Given the description of an element on the screen output the (x, y) to click on. 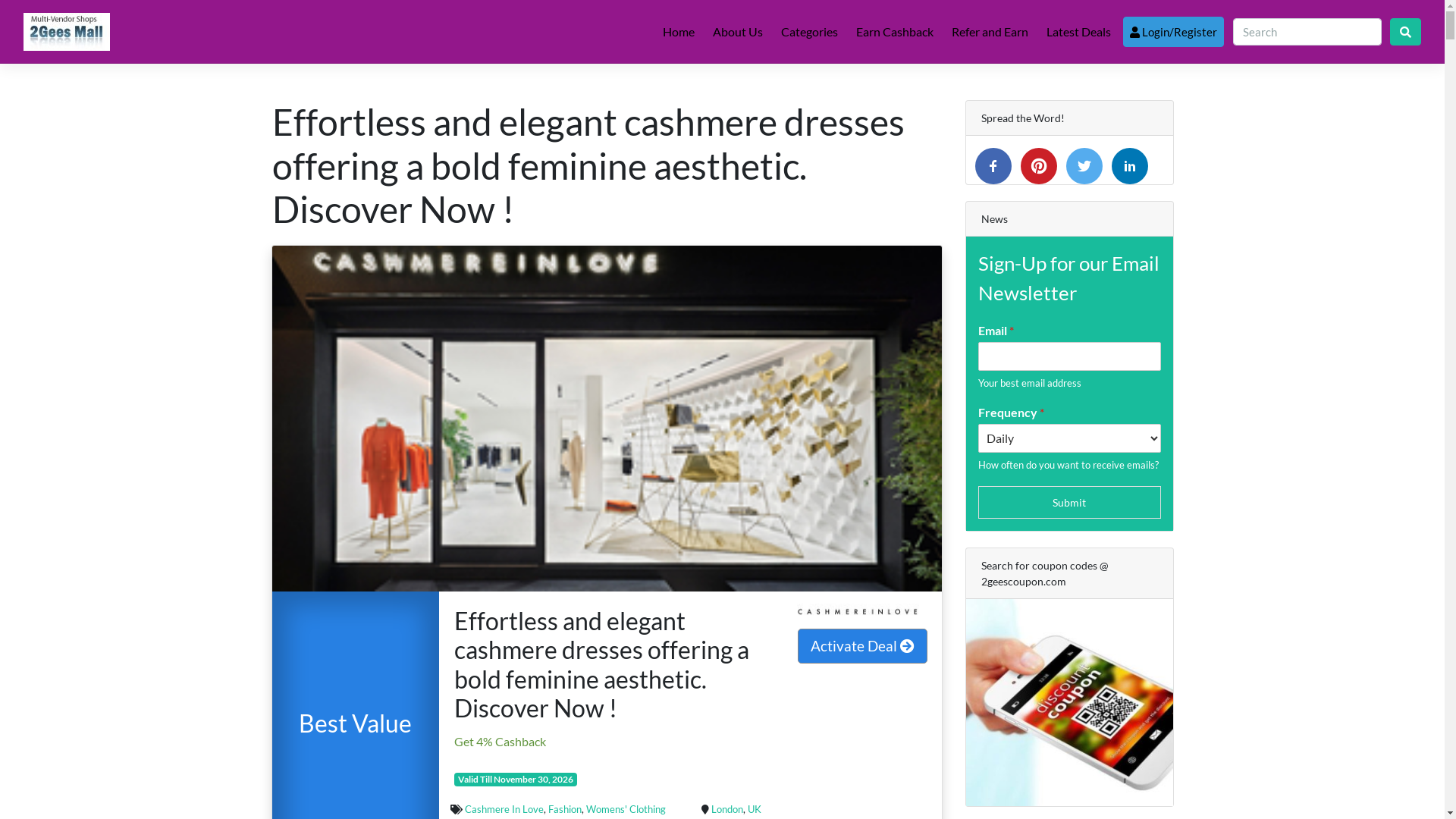
Fashion Element type: text (564, 809)
Login/Register Element type: text (1173, 31)
UK Element type: text (754, 809)
Earn Cashback Element type: text (894, 31)
Submit Element type: text (1069, 502)
London Element type: text (727, 809)
Refer and Earn Element type: text (989, 31)
Latest Deals Element type: text (1078, 31)
Activate Deal Element type: text (862, 645)
Womens' Clothing Element type: text (625, 809)
Home Element type: text (678, 31)
Categories Element type: text (809, 31)
About Us Element type: text (737, 31)
Cashmere In Love Element type: text (503, 809)
